Given the description of an element on the screen output the (x, y) to click on. 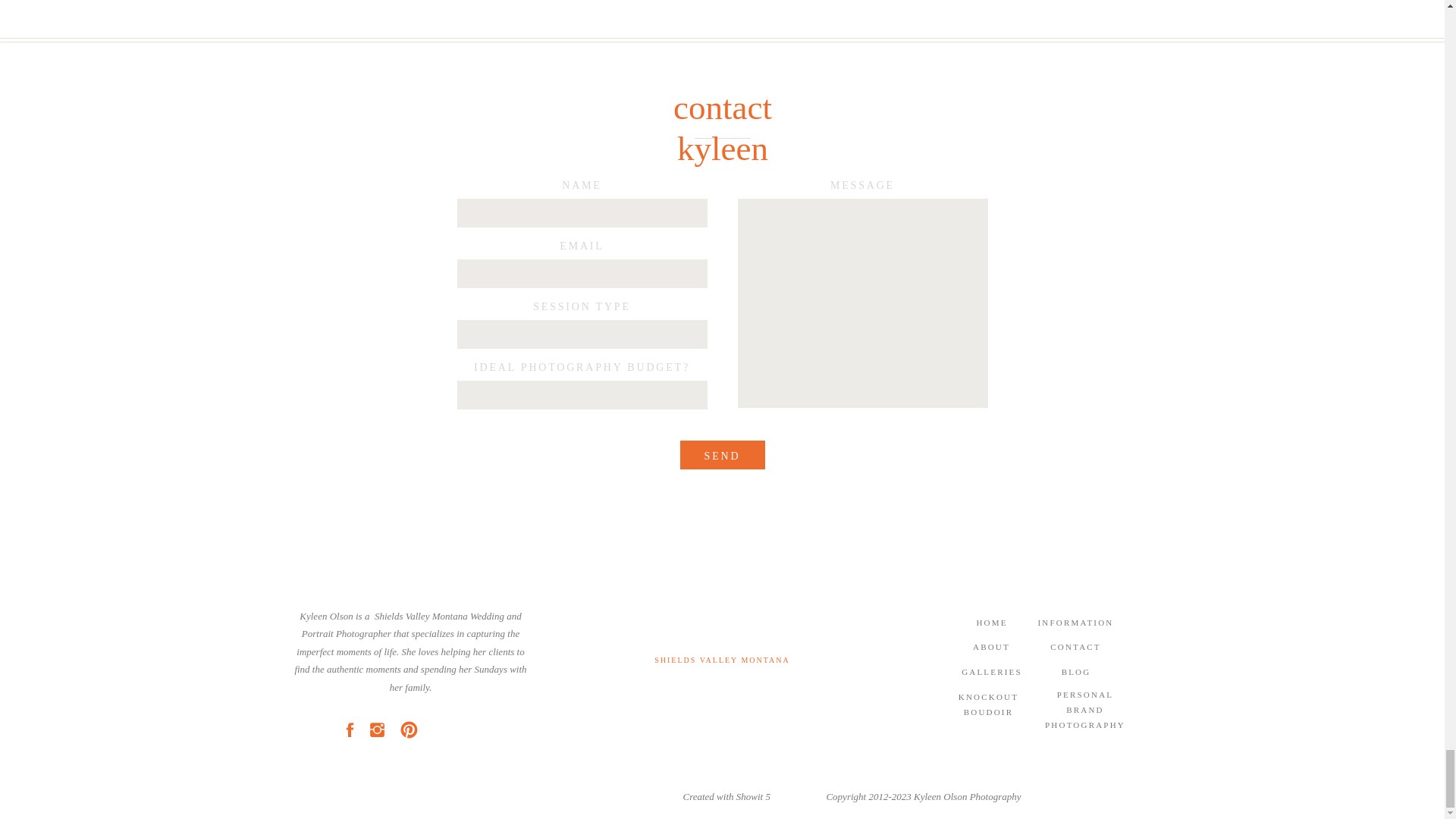
HOME (992, 625)
ABOUT (991, 649)
PERSONAL BRAND PHOTOGRAPHY (1085, 716)
BLOG (1076, 674)
KNOCKOUT BOUDOIR (988, 711)
Created with Showit 5 (727, 800)
GALLERIES (991, 674)
SEND (721, 456)
INFORMATION (1074, 625)
CONTACT (1075, 649)
